Given the description of an element on the screen output the (x, y) to click on. 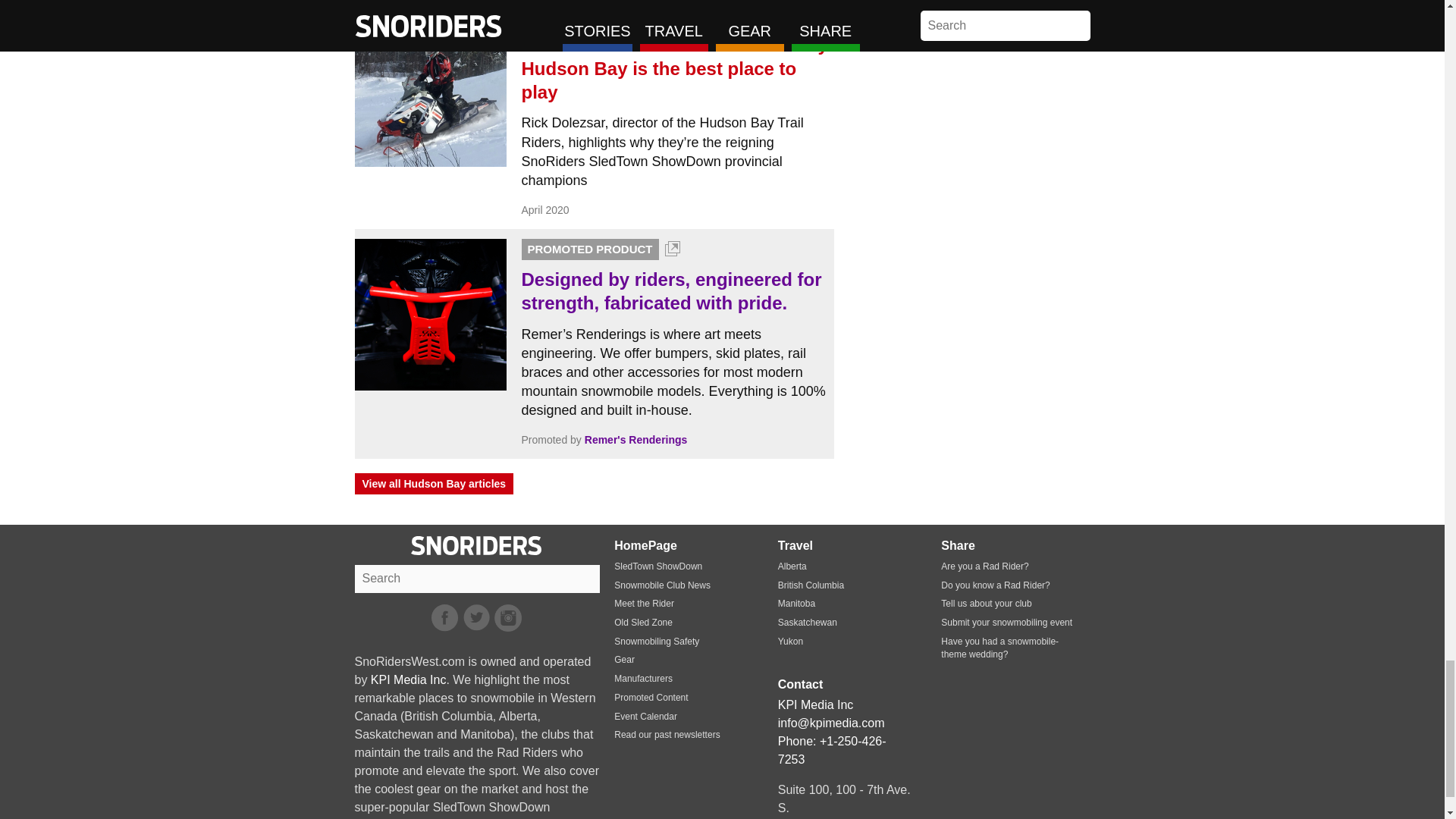
Remer's Renderings (636, 439)
HUDSON BAY, SK (563, 21)
View all Hudson Bay articles (434, 483)
